Given the description of an element on the screen output the (x, y) to click on. 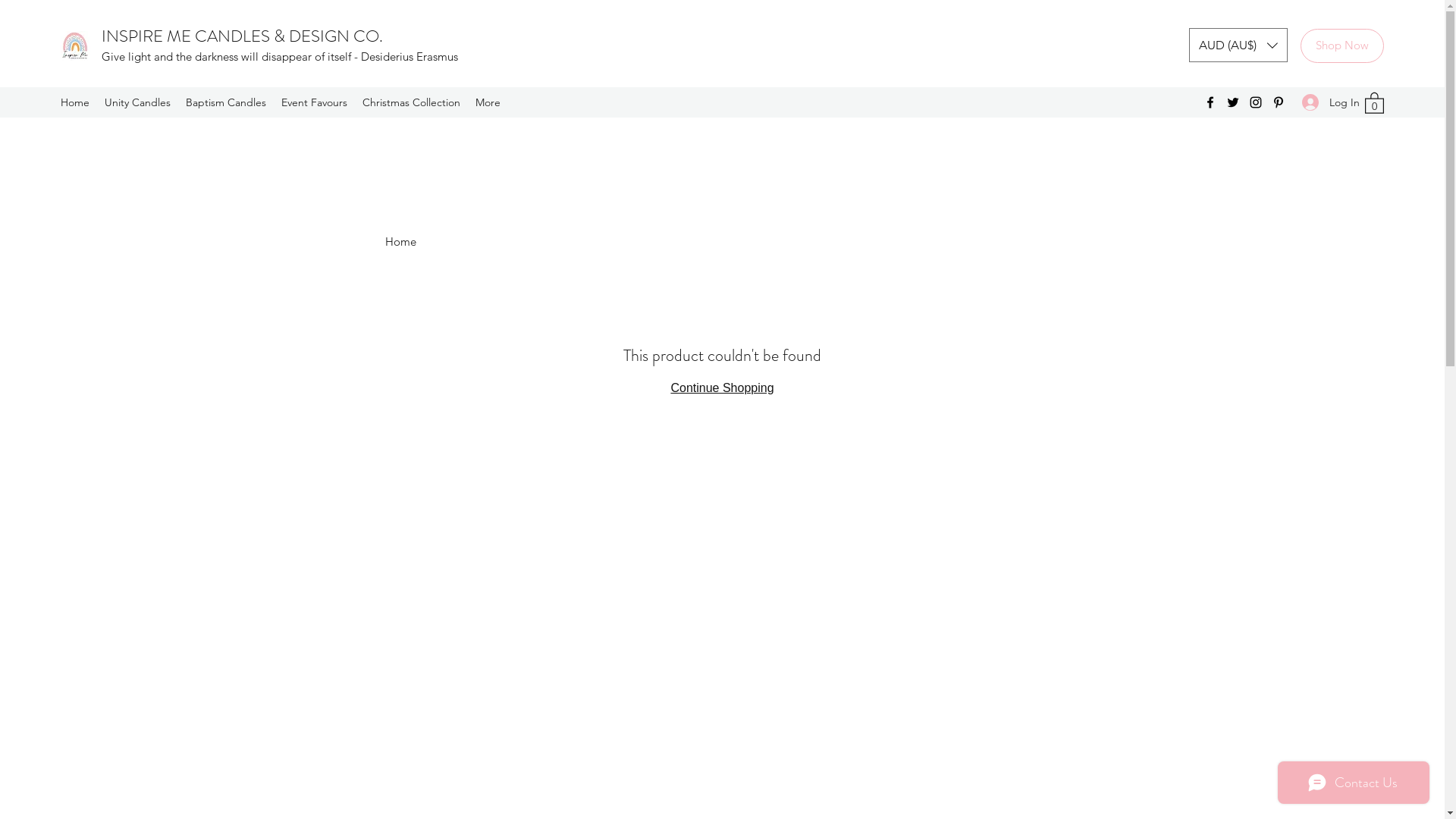
INSPIRE ME CANDLES & DESIGN CO. Element type: text (241, 35)
Event Favours Element type: text (313, 102)
Christmas Collection Element type: text (410, 102)
Baptism Candles Element type: text (225, 102)
Unity Candles Element type: text (137, 102)
Home Element type: text (75, 102)
Shop Now Element type: text (1341, 45)
0 Element type: text (1374, 102)
Continue Shopping Element type: text (721, 387)
Log In Element type: text (1325, 102)
AUD (AU$) Element type: text (1238, 45)
Home Element type: text (400, 241)
